Given the description of an element on the screen output the (x, y) to click on. 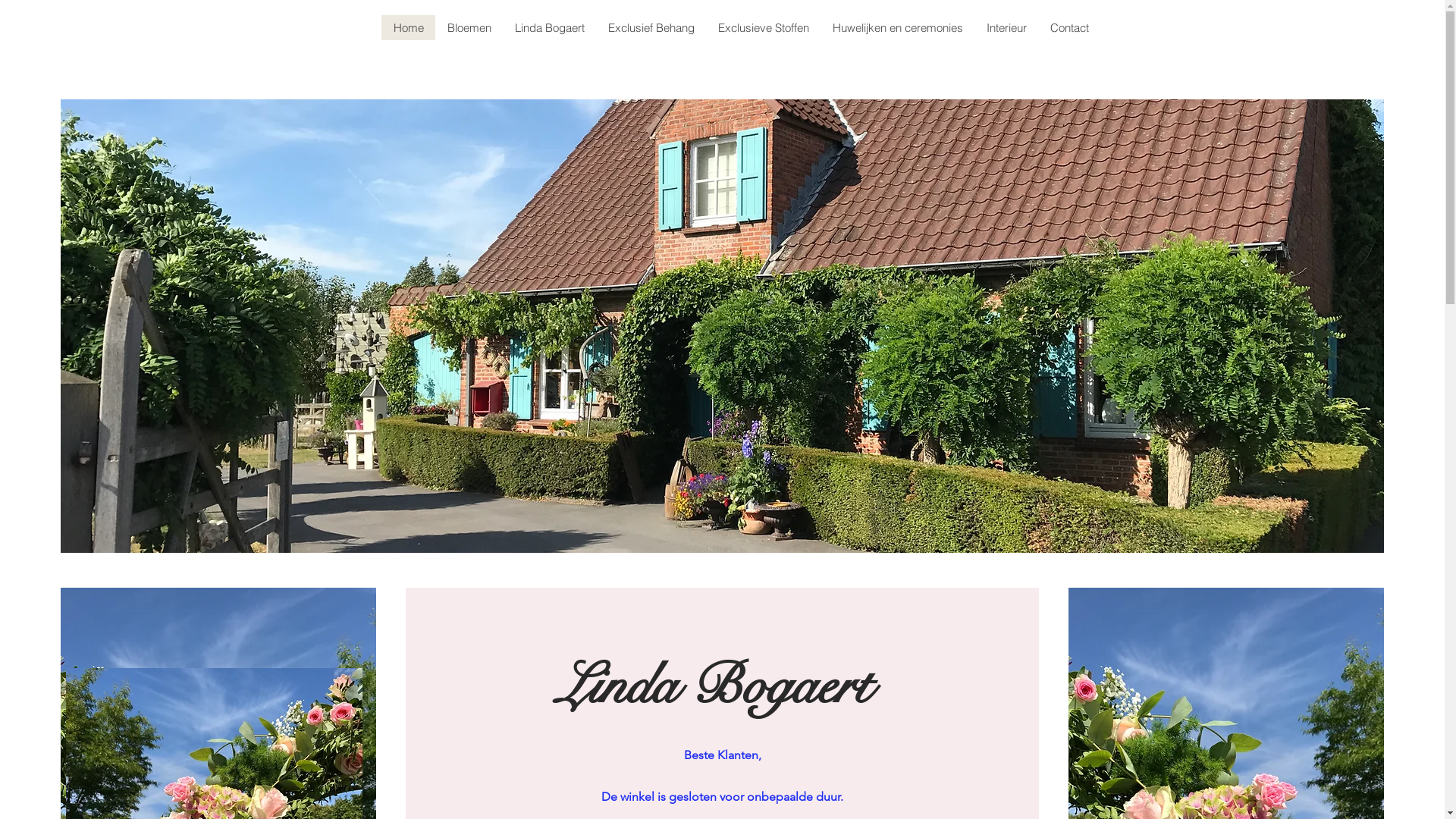
Exclusief Behang Element type: text (651, 27)
Contact Element type: text (1069, 27)
Huwelijken en ceremonies Element type: text (897, 27)
Interieur Element type: text (1006, 27)
Home Element type: text (408, 27)
Bloemen Element type: text (468, 27)
Linda Bogaert Element type: text (549, 27)
Exclusieve Stoffen Element type: text (763, 27)
